Given the description of an element on the screen output the (x, y) to click on. 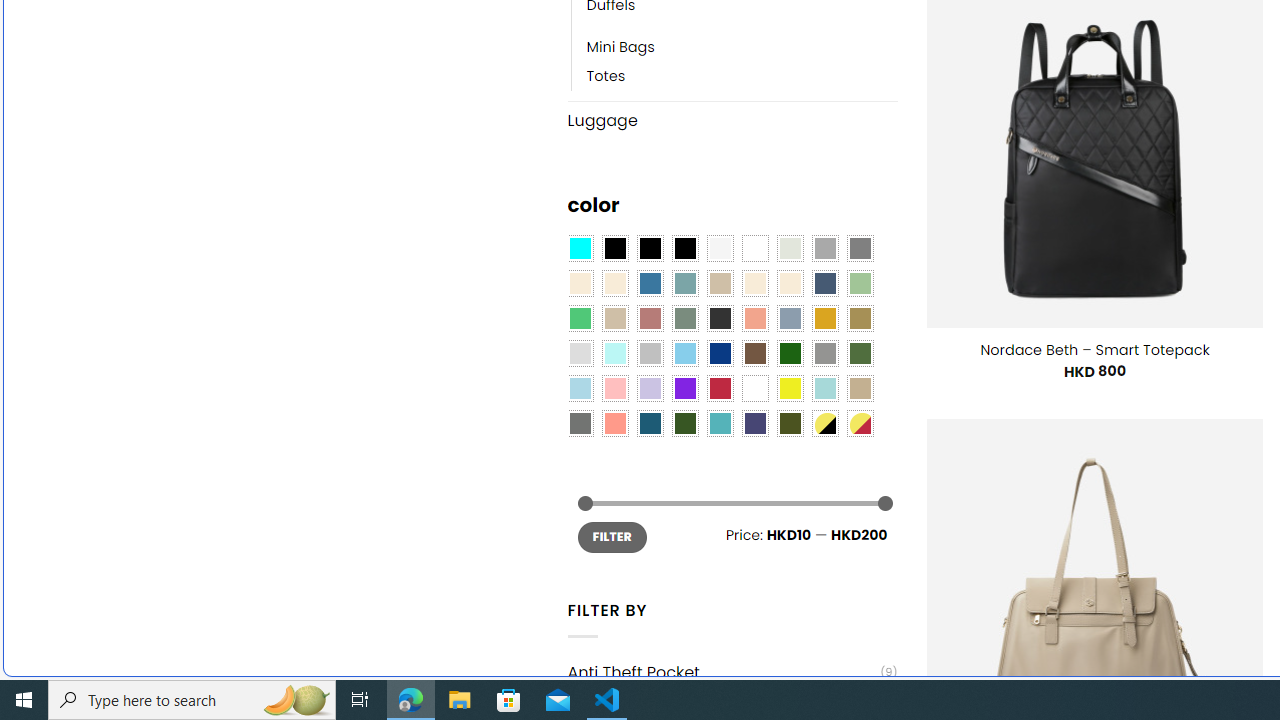
Blue (650, 283)
Light Purple (650, 388)
Aqua Blue (579, 249)
Purple (684, 388)
Mini Bags (742, 48)
Aqua (824, 388)
Light Gray (579, 354)
Light Blue (579, 388)
Luggage (732, 120)
Army Green (789, 424)
Mint (614, 354)
Rose (650, 318)
Khaki (859, 388)
Brownie (719, 283)
